Given the description of an element on the screen output the (x, y) to click on. 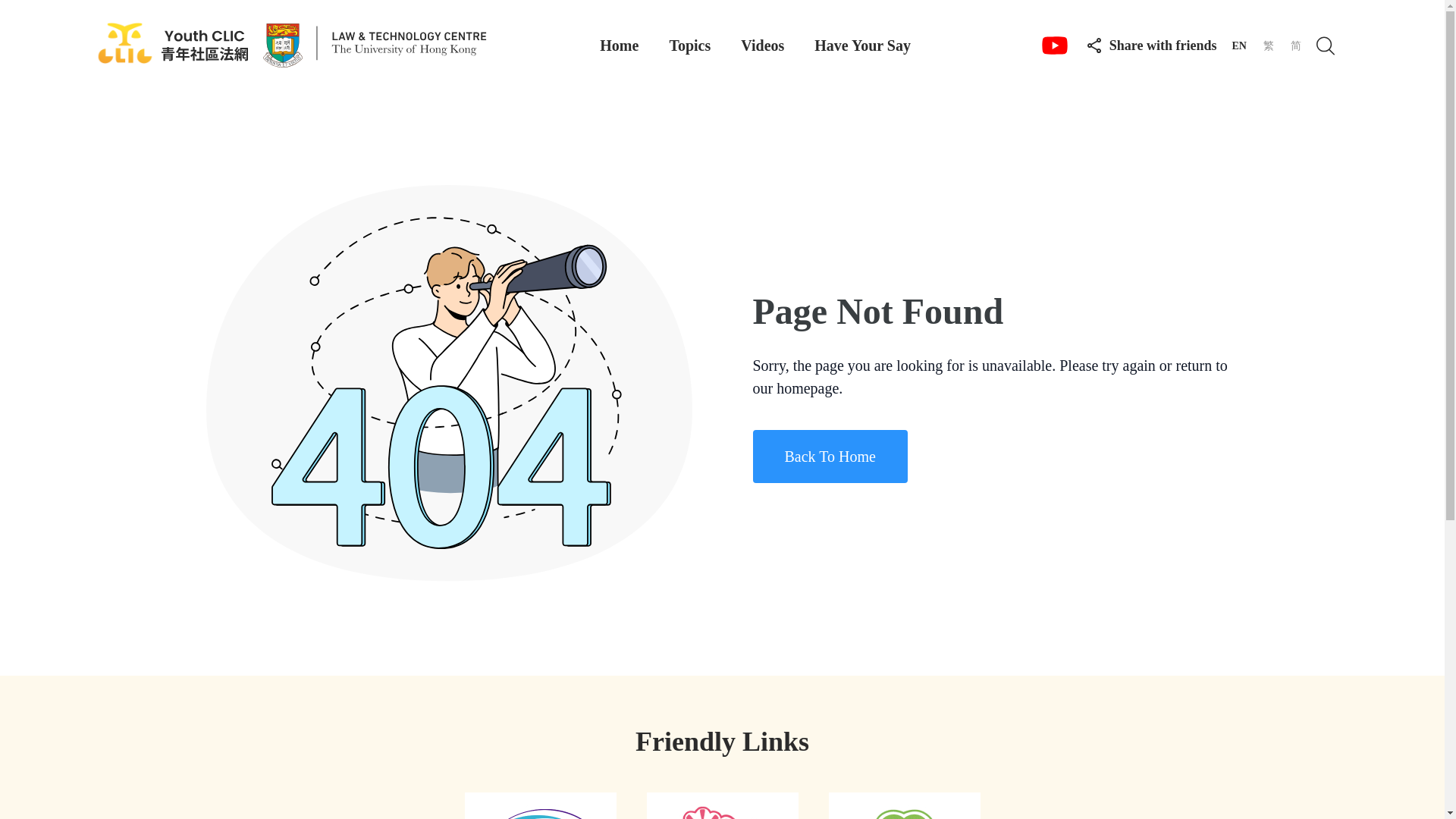
EN (1238, 45)
EN (1238, 45)
Have Your Say (862, 45)
Topics (689, 45)
Share with friends (1150, 44)
Home (619, 45)
Videos (762, 45)
